Given the description of an element on the screen output the (x, y) to click on. 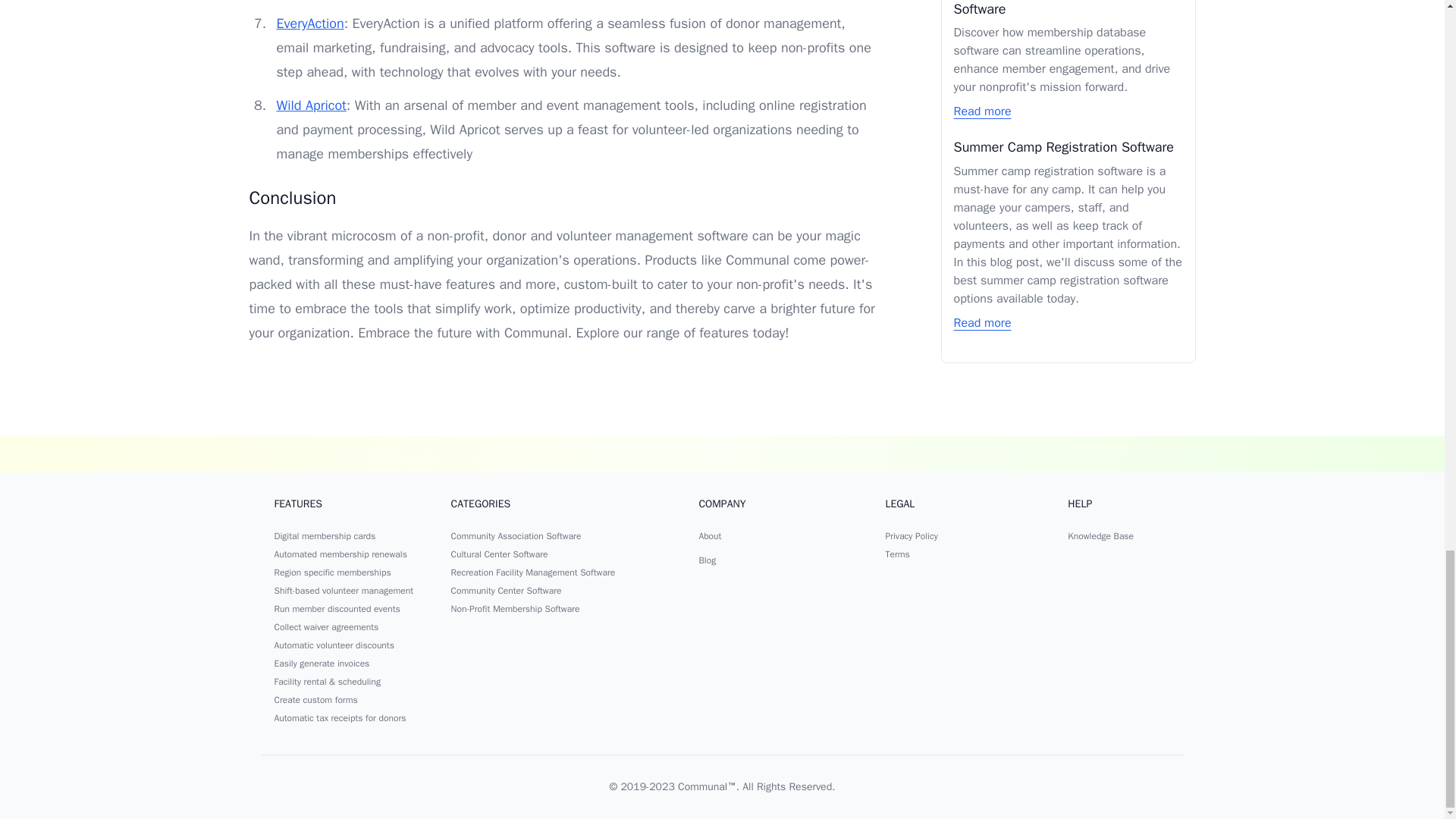
Automatic volunteer discounts (334, 645)
Run member discounted events (337, 608)
Cultural Center Software (499, 553)
Terms (896, 553)
Automatic tax receipts for donors (340, 717)
Community Association Software (515, 535)
Wild Apricot (311, 105)
Knowledge Base (1100, 535)
Digital membership cards (325, 535)
Automated membership renewals (341, 553)
About (709, 535)
Shift-based volunteer management (344, 590)
Collect waiver agreements (326, 626)
Community Center Software (506, 590)
EveryAction (309, 23)
